Given the description of an element on the screen output the (x, y) to click on. 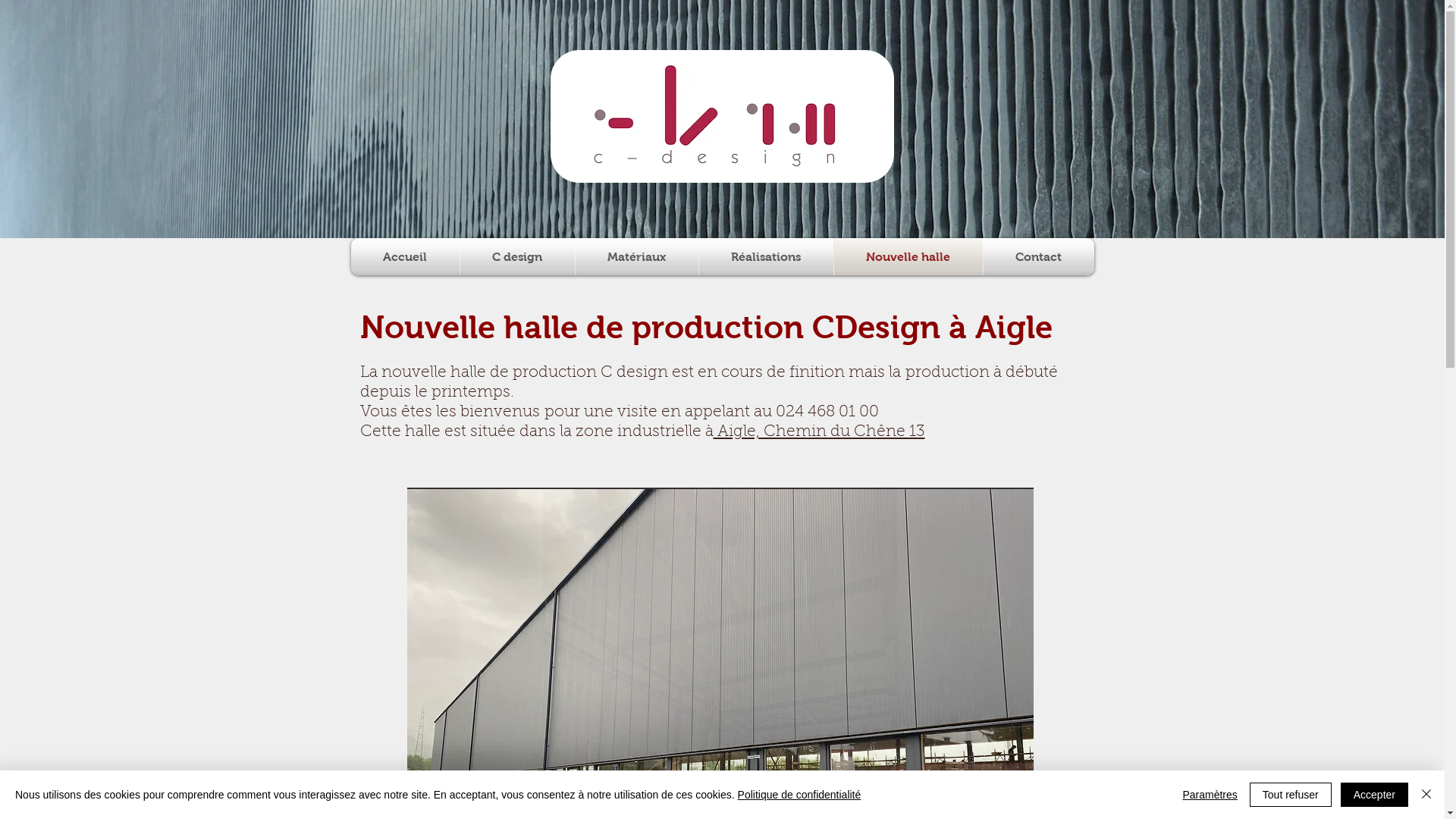
Nouvelle halle Element type: text (908, 256)
Accepter Element type: text (1374, 794)
Accueil Element type: text (404, 256)
Contact Element type: text (1037, 256)
Tout refuser Element type: text (1290, 794)
C-Design_logo_CMJN.jpg Element type: hover (715, 115)
C design Element type: text (516, 256)
